Given the description of an element on the screen output the (x, y) to click on. 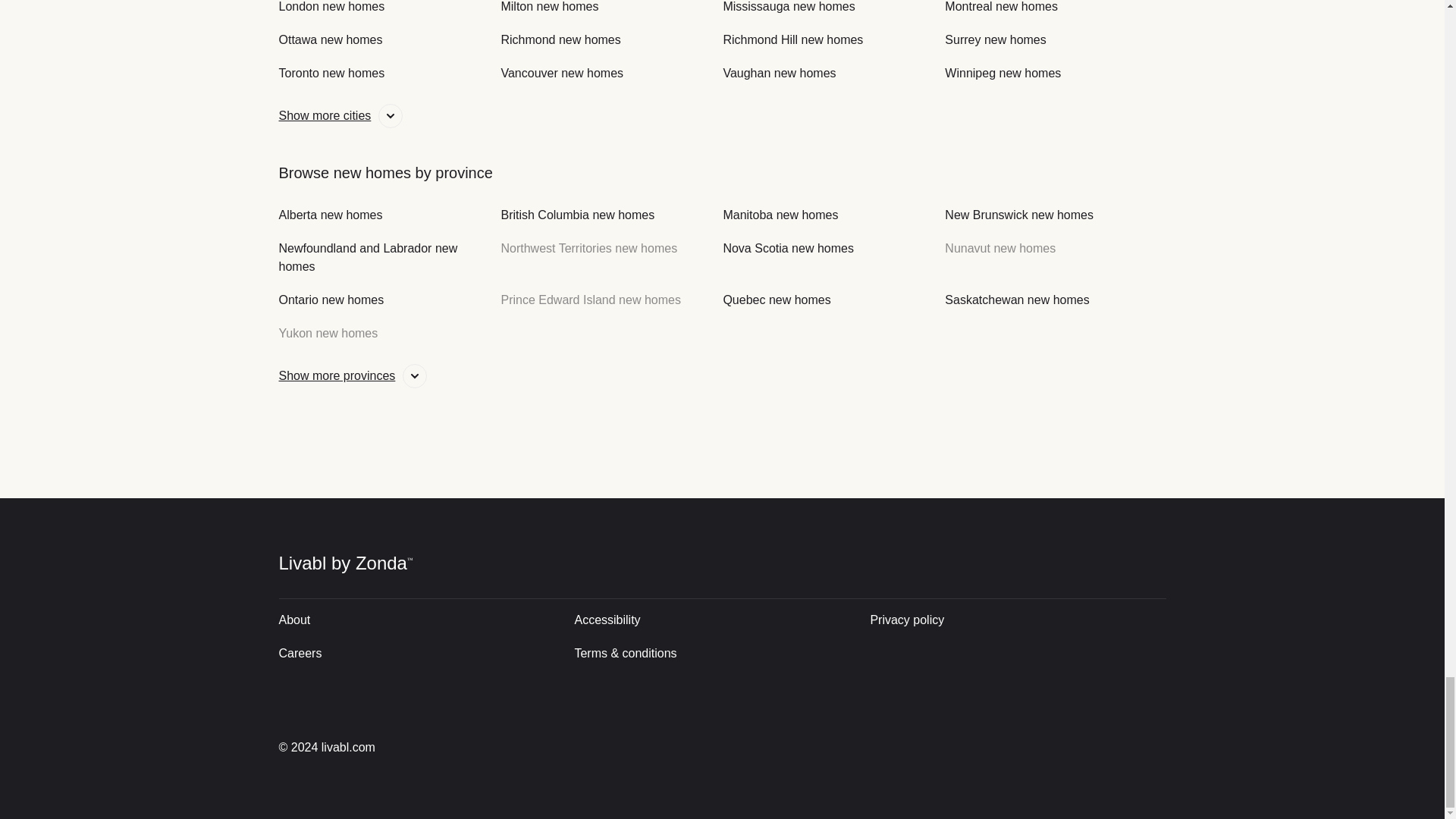
Pinterest (1150, 747)
Instagram (1045, 747)
Twitter (991, 747)
Facebook (1098, 747)
